Given the description of an element on the screen output the (x, y) to click on. 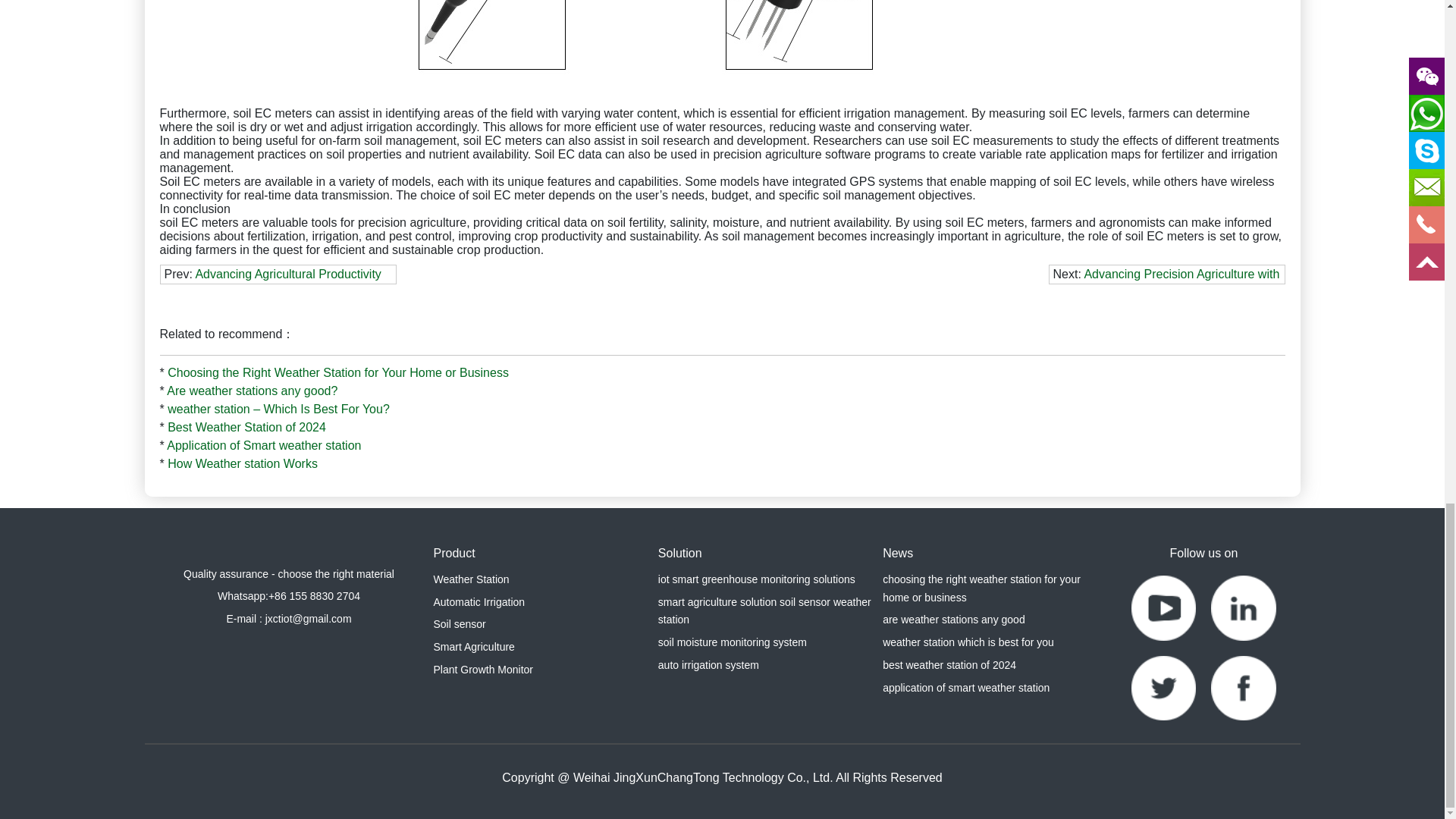
Choosing the Right Weather Station for Your Home or Business (337, 372)
How Weather station Works (242, 463)
Are weather stations any good? (252, 390)
Application of Smart weather station (264, 445)
Best Weather Station of 2024 (246, 427)
